Given the description of an element on the screen output the (x, y) to click on. 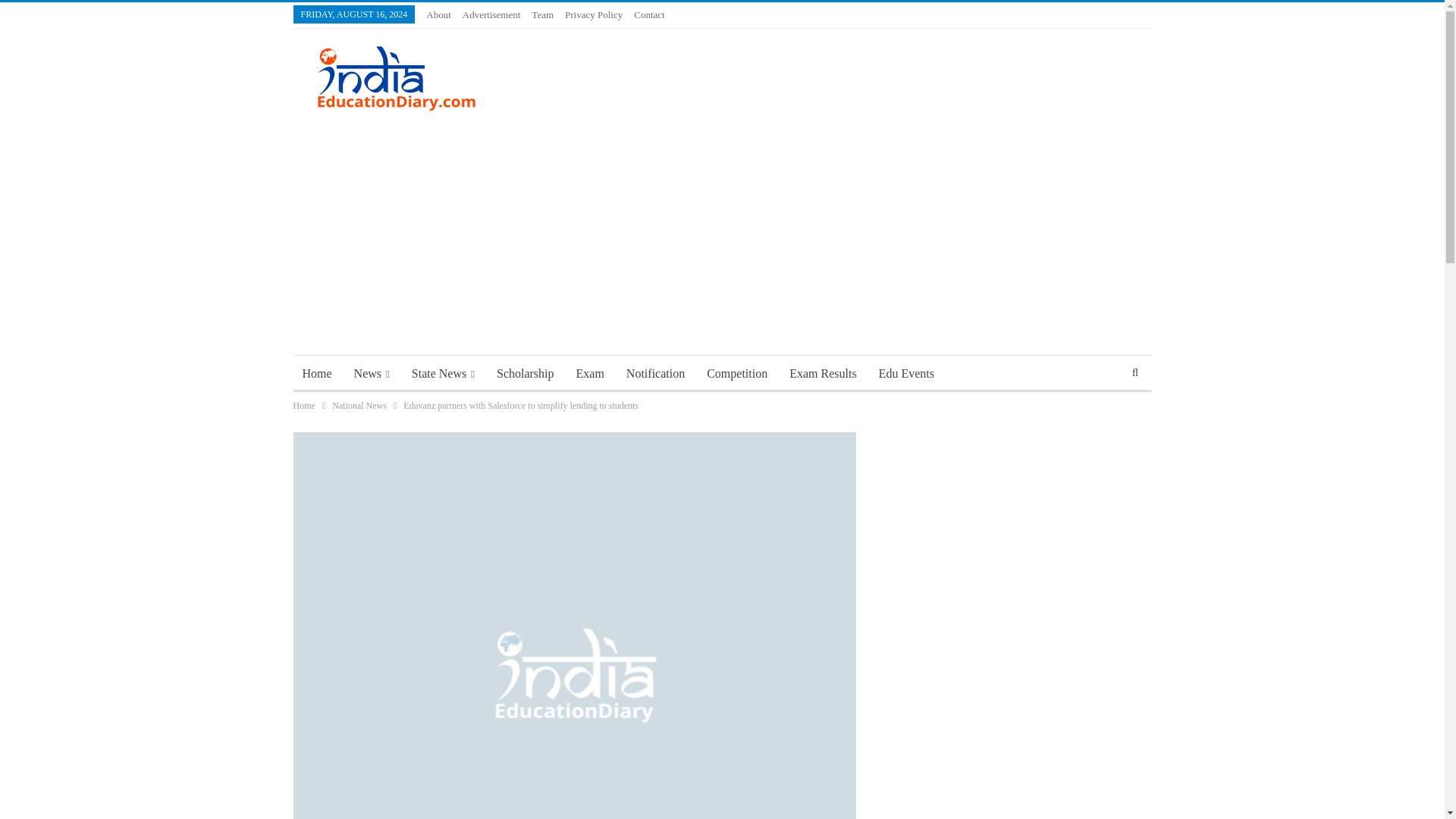
Team (542, 14)
Privacy Policy (593, 14)
About (438, 14)
State News (443, 373)
News (371, 373)
Contact (648, 14)
Advertisement (492, 14)
Home (316, 373)
